Given the description of an element on the screen output the (x, y) to click on. 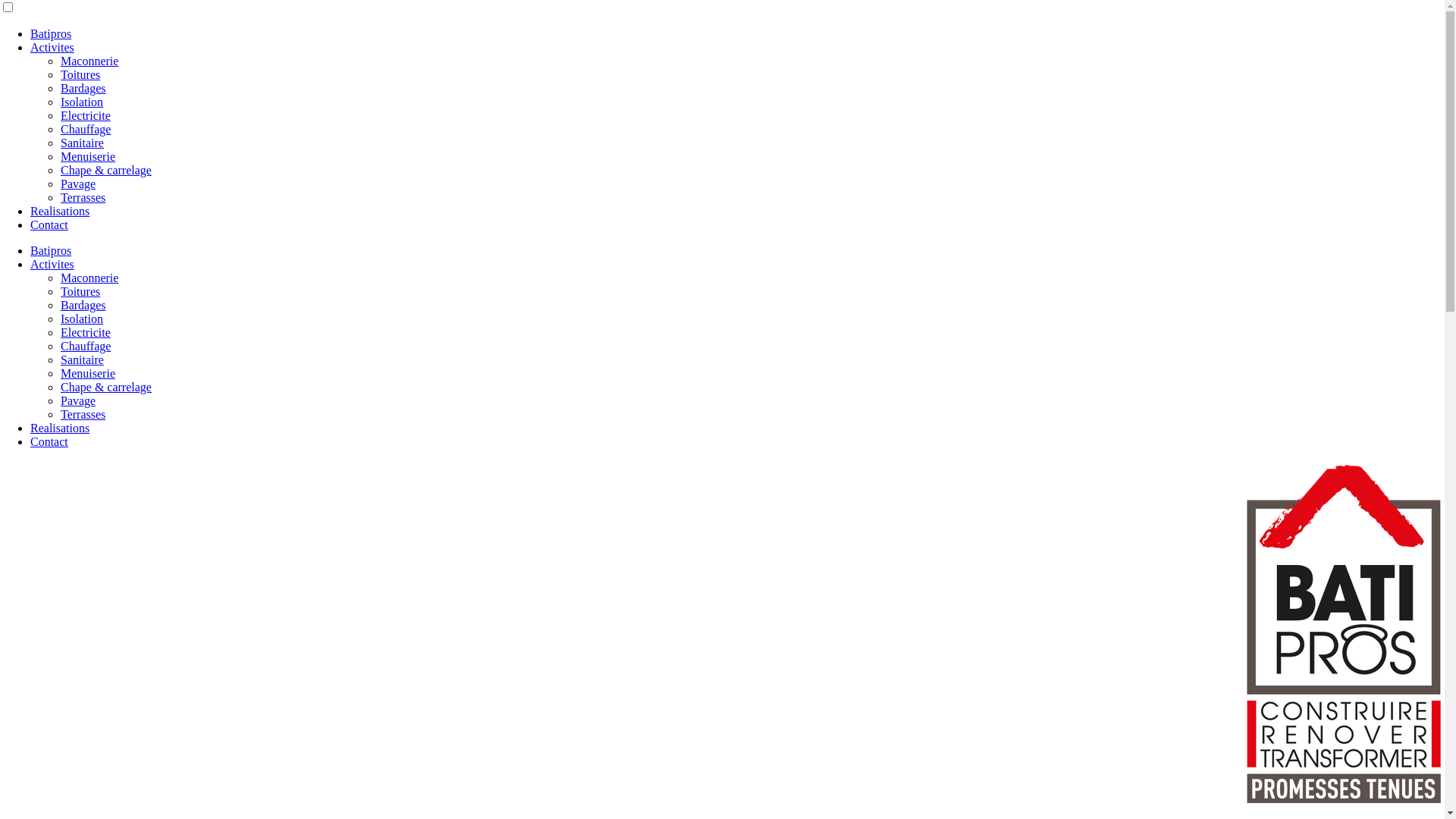
Batipros Element type: text (50, 33)
Menuiserie Element type: text (87, 373)
Realisations Element type: text (59, 427)
Menuiserie Element type: text (87, 156)
Sanitaire Element type: text (81, 359)
Chape & carrelage Element type: text (105, 169)
Isolation Element type: text (81, 318)
Contact Element type: text (49, 224)
Electricite Element type: text (85, 115)
Bardages Element type: text (83, 87)
Toitures Element type: text (80, 291)
Batipros Element type: text (50, 250)
Sanitaire Element type: text (81, 142)
Pavage Element type: text (77, 400)
Toitures Element type: text (80, 74)
Maconnerie Element type: text (89, 277)
Chauffage Element type: text (85, 345)
Chape & carrelage Element type: text (105, 386)
Pavage Element type: text (77, 183)
Terrasses Element type: text (82, 413)
Contact Element type: text (49, 441)
Realisations Element type: text (59, 210)
Isolation Element type: text (81, 101)
Activites Element type: text (52, 46)
Maconnerie Element type: text (89, 60)
Bardages Element type: text (83, 304)
Chauffage Element type: text (85, 128)
Activites Element type: text (52, 263)
Electricite Element type: text (85, 332)
Terrasses Element type: text (82, 197)
